Given the description of an element on the screen output the (x, y) to click on. 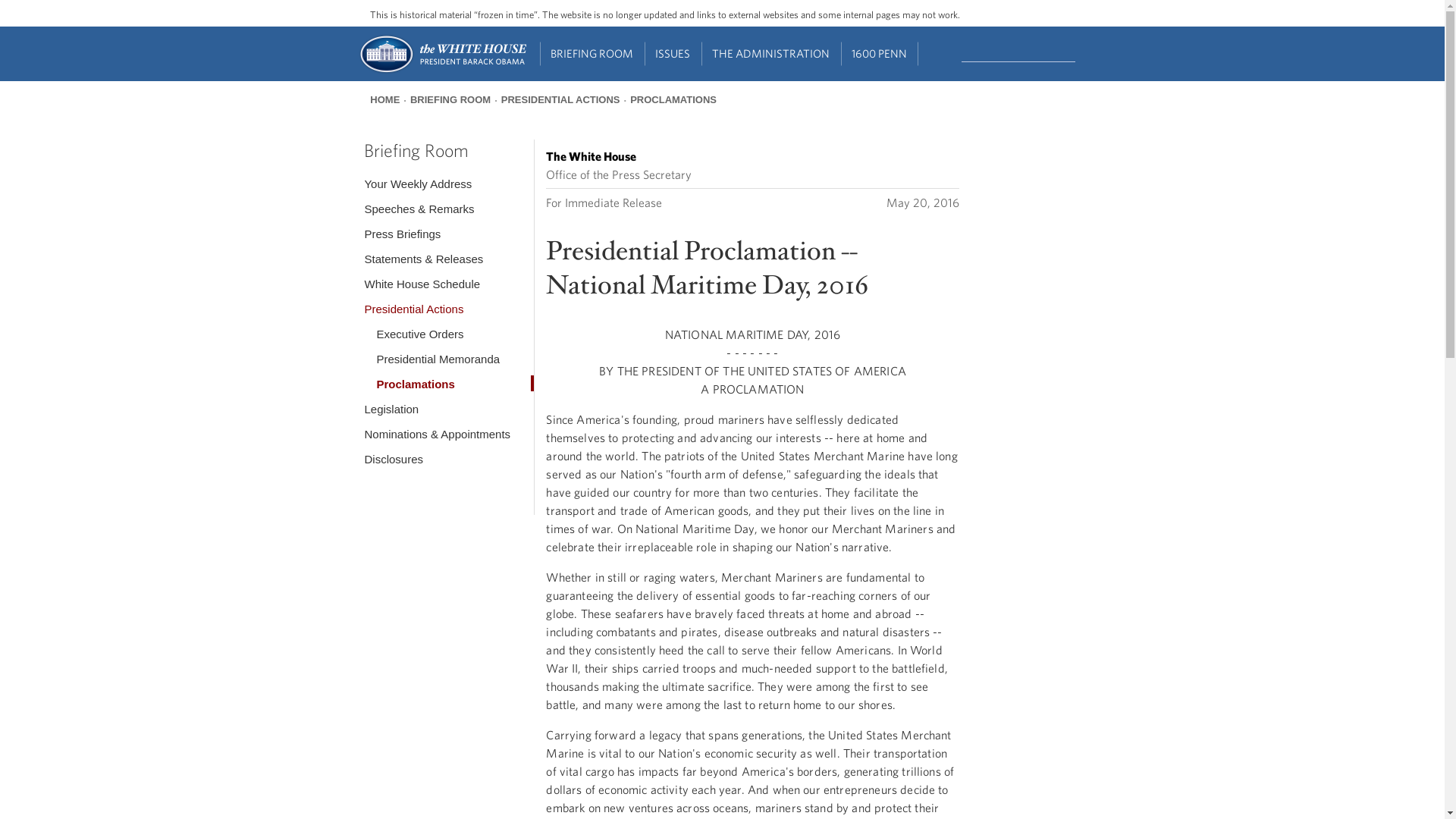
Enter the terms you wish to search for. (1017, 52)
Home (441, 70)
BRIEFING ROOM (592, 53)
Search (1076, 51)
ISSUES (673, 53)
